Given the description of an element on the screen output the (x, y) to click on. 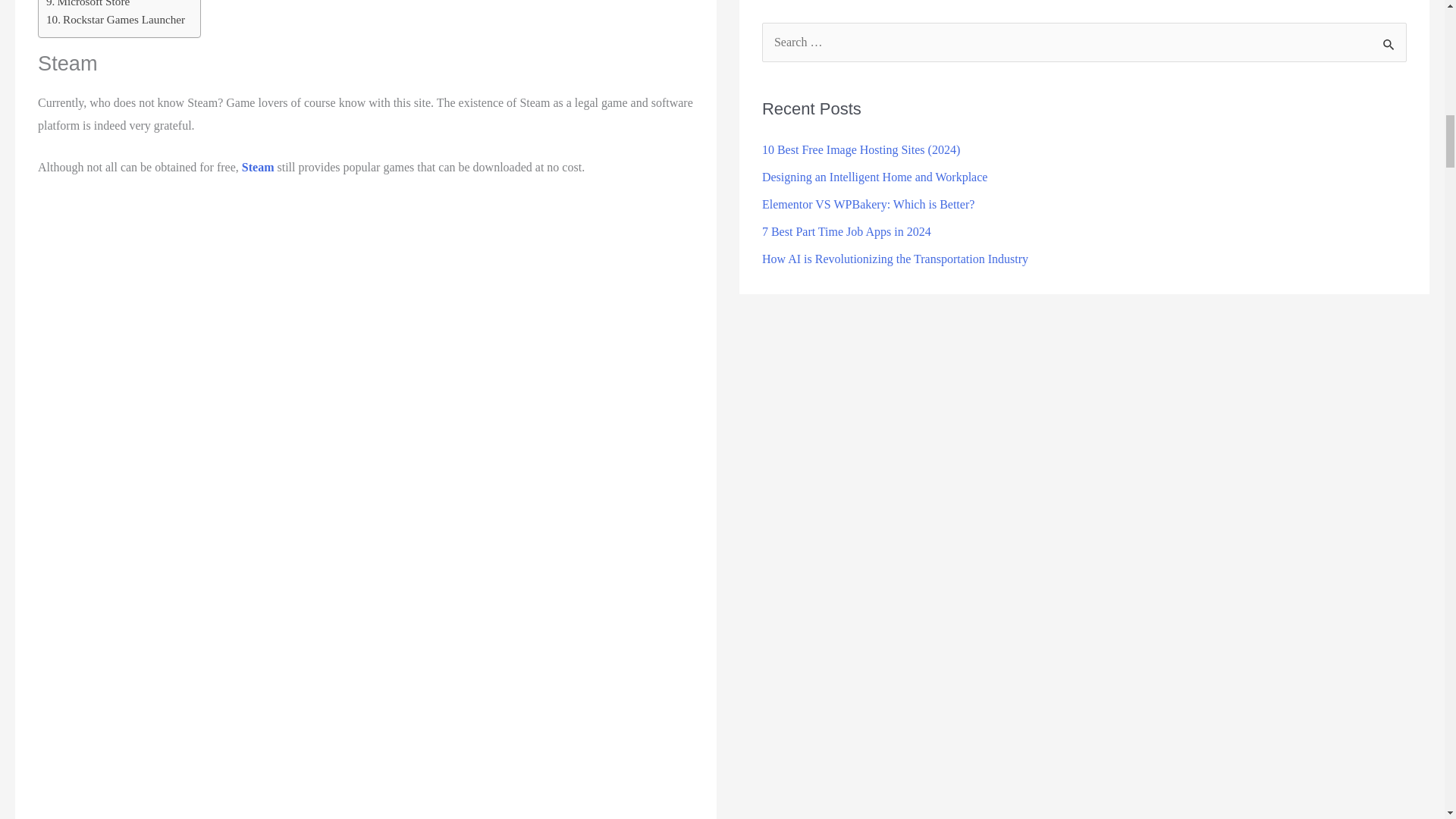
Microsoft Store (87, 5)
Rockstar Games Launcher (115, 19)
